Given the description of an element on the screen output the (x, y) to click on. 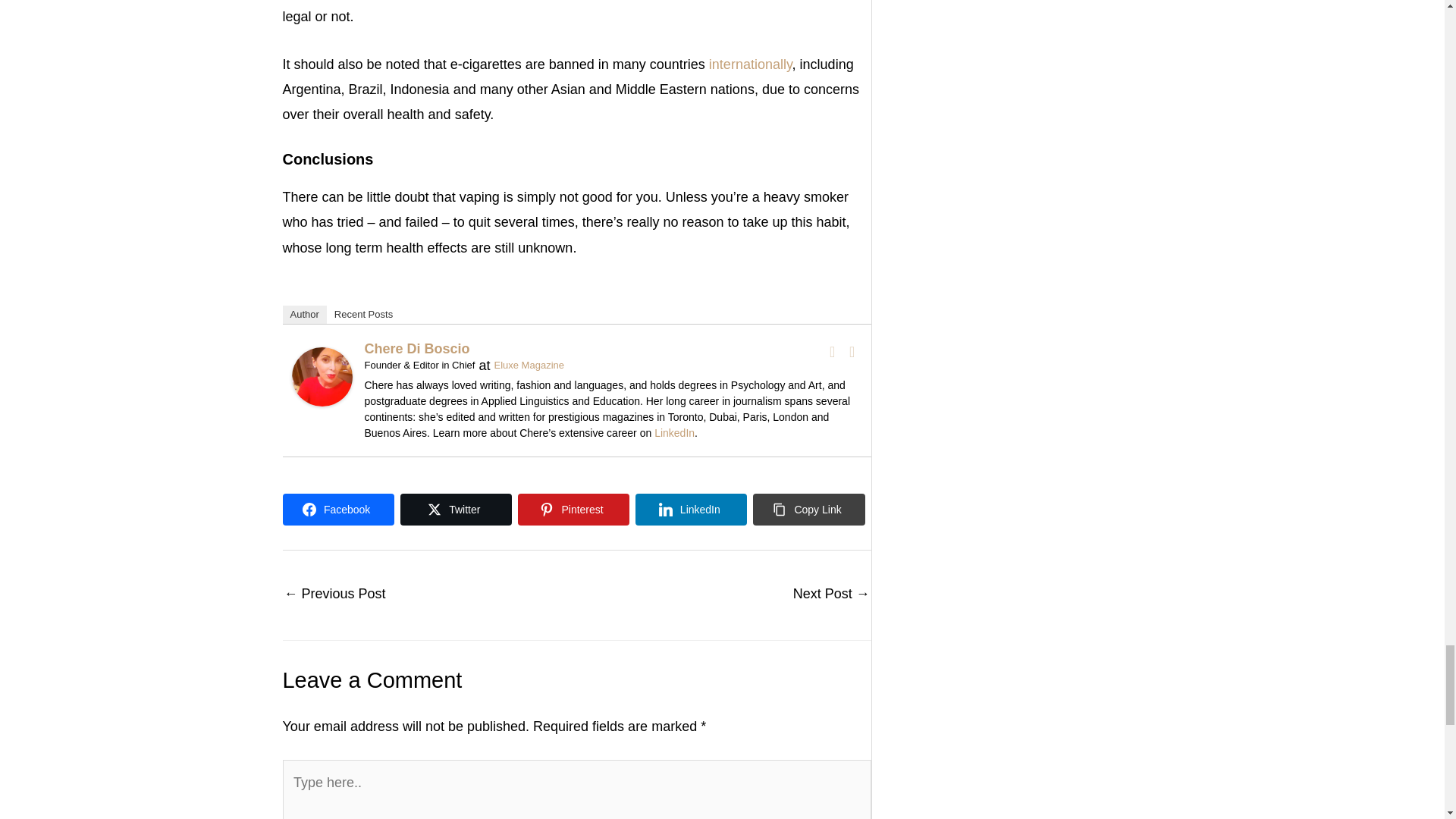
Why You Need A Google Alternative Search Engine (831, 594)
Chere Di Boscio (321, 377)
Facebook (832, 352)
Share on LinkedIn (690, 509)
Old Mags To New Bags: By Hands From Claudia (334, 594)
Share on Pinterest (573, 509)
Share on Copy Link (808, 509)
Twitter (852, 352)
Share on Facebook (337, 509)
Share on Twitter (456, 509)
